Given the description of an element on the screen output the (x, y) to click on. 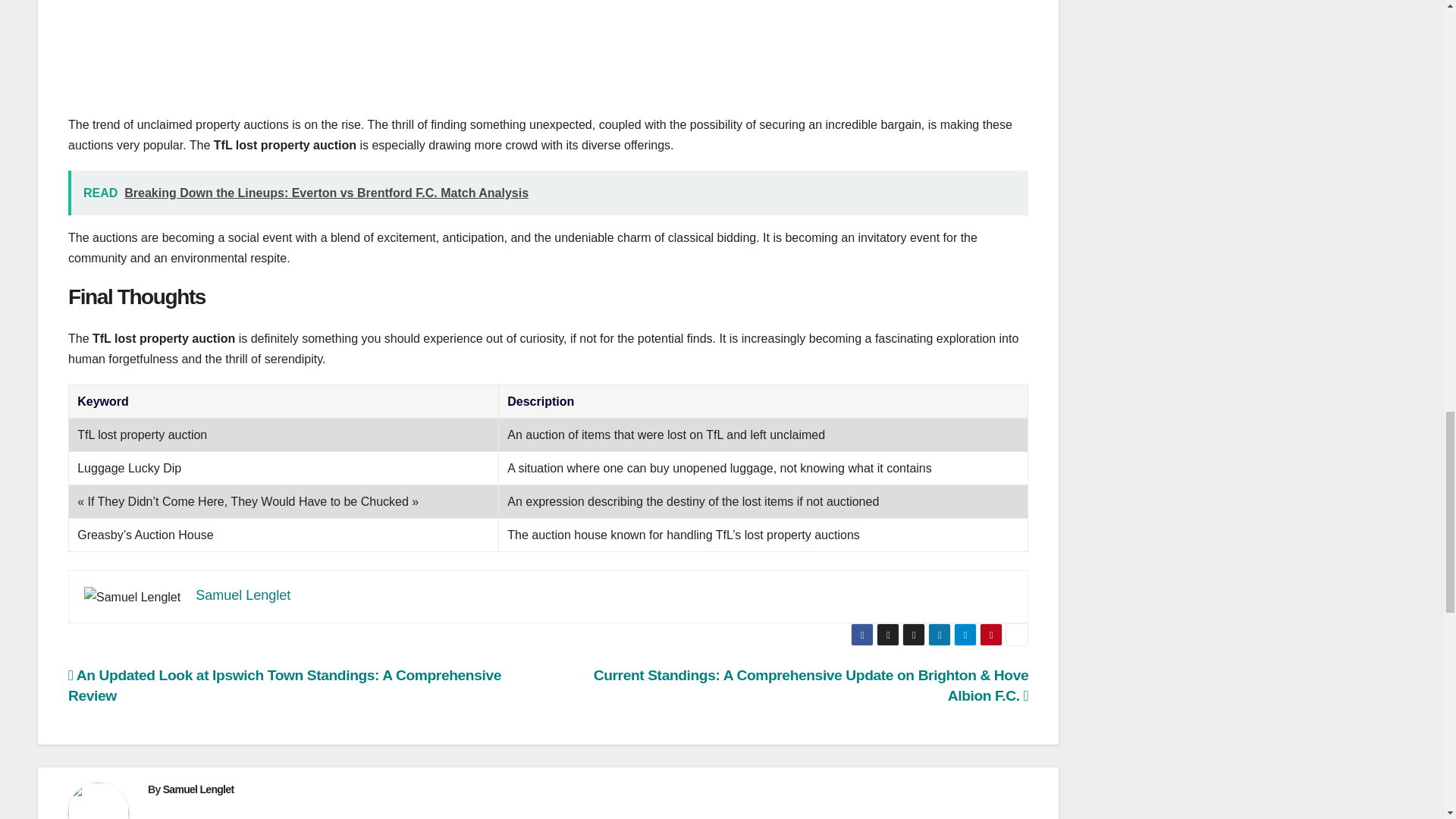
Samuel Lenglet (242, 595)
YouTube video player (547, 46)
